Given the description of an element on the screen output the (x, y) to click on. 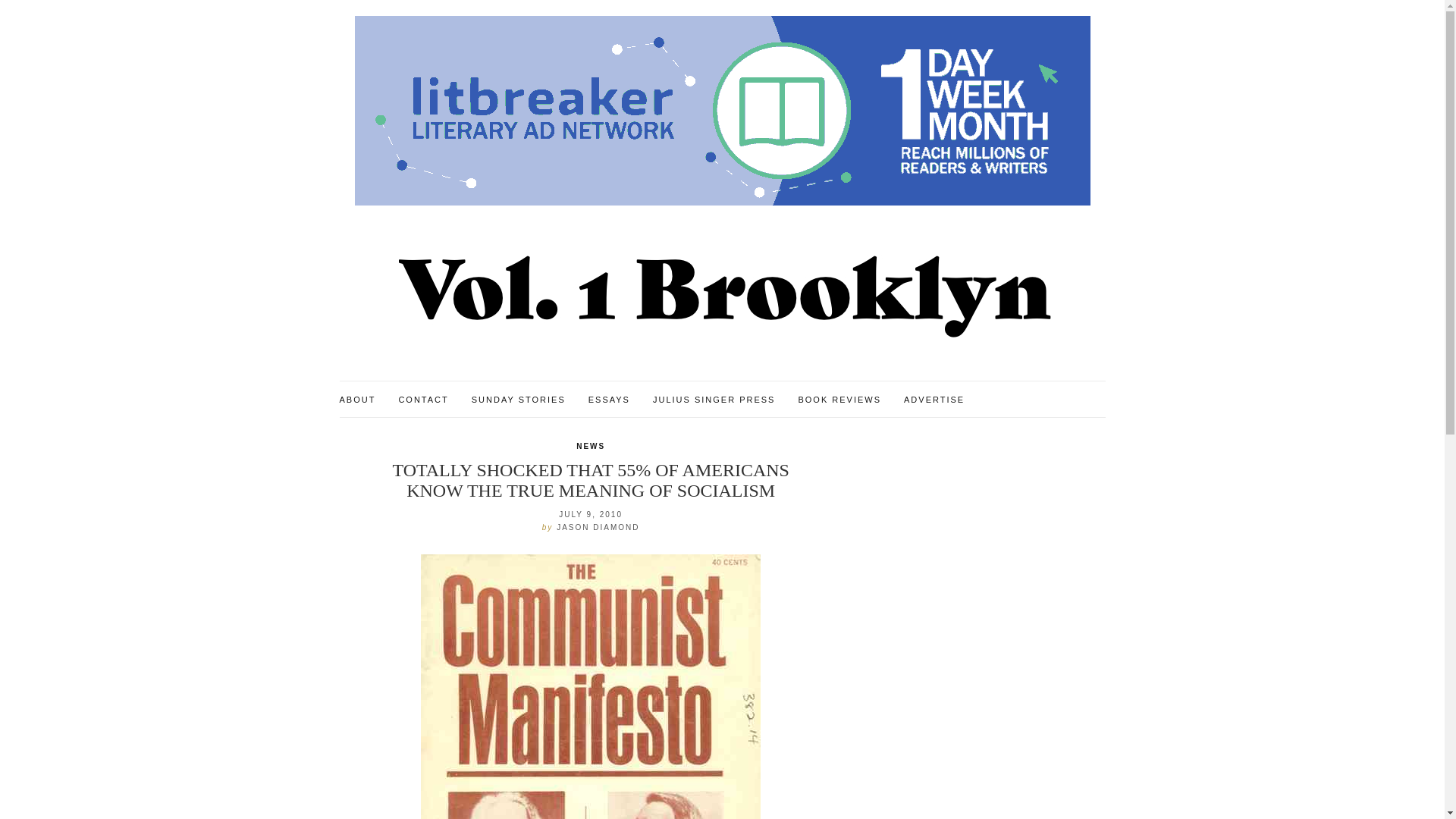
BOOK REVIEWS (838, 400)
ESSAYS (609, 400)
ABOUT (357, 400)
NEWS (590, 446)
communist manifesto - cover picture (590, 686)
SUNDAY STORIES (518, 400)
by (548, 527)
ADVERTISE (933, 400)
JULIUS SINGER PRESS (713, 400)
CONTACT (422, 400)
